Given the description of an element on the screen output the (x, y) to click on. 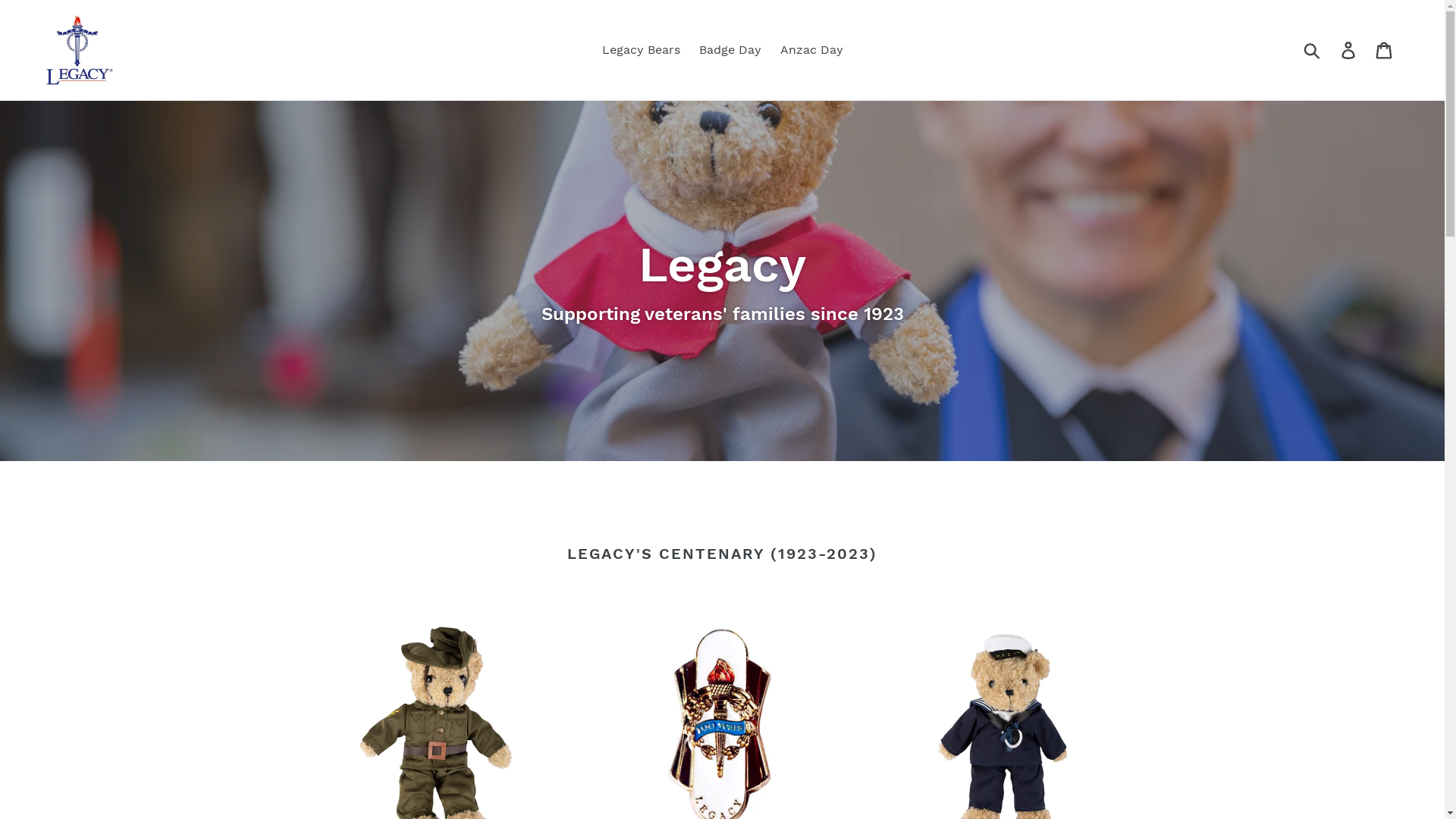
Legacy Bears Element type: text (640, 49)
Log in Element type: text (1349, 50)
Badge Day Element type: text (729, 49)
Cart Element type: text (1384, 50)
Submit Element type: text (1312, 49)
Anzac Day Element type: text (810, 49)
